Given the description of an element on the screen output the (x, y) to click on. 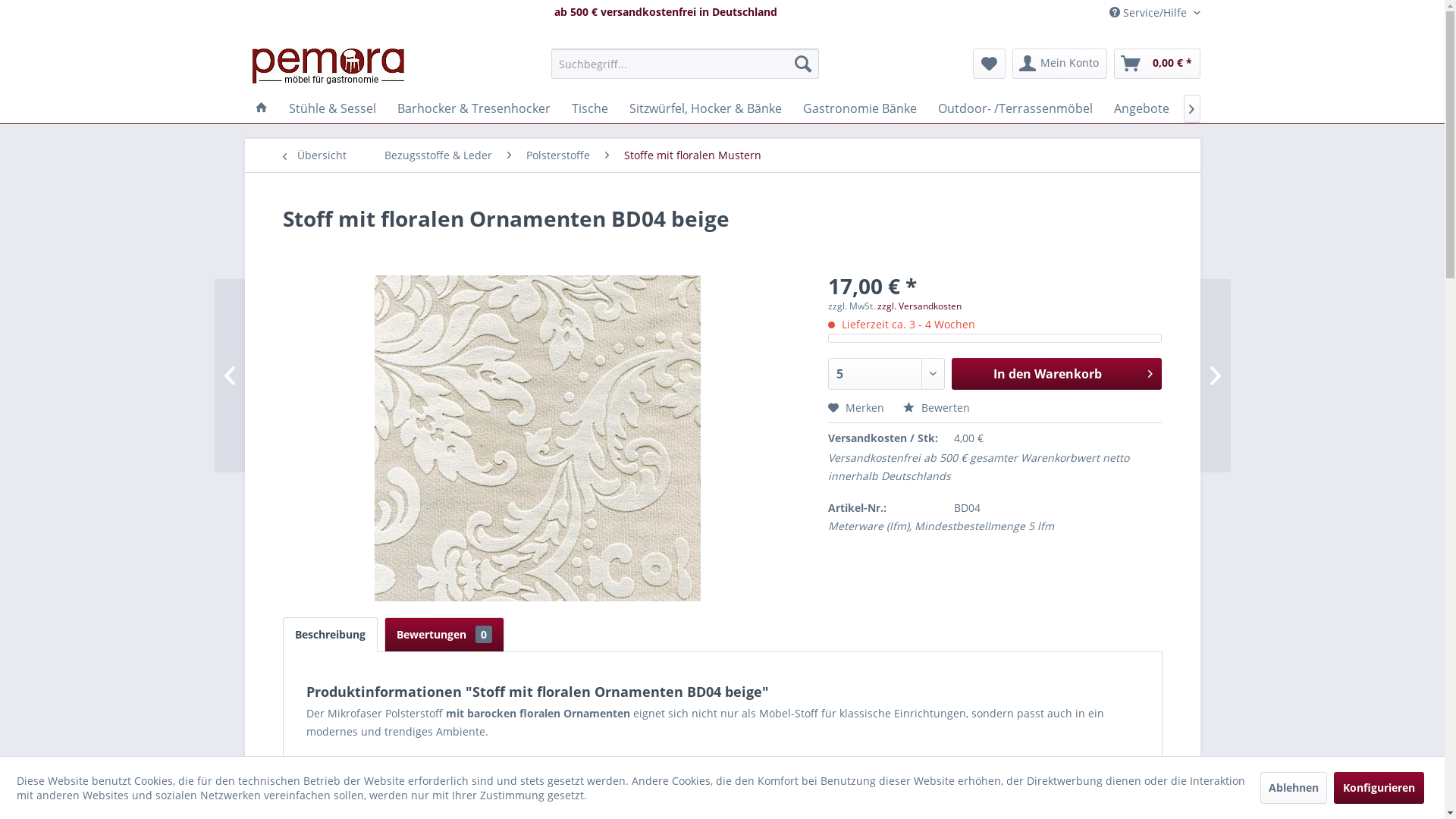
Beschreibung Element type: text (329, 634)
Ablehnen Element type: text (1293, 787)
Bewerten Element type: text (936, 407)
Merkzettel Element type: hover (988, 63)
Bewertungen 0 Element type: text (443, 634)
Tische Element type: text (589, 108)
Polsterstoffe Element type: text (557, 155)
Stoff mit floralen Ornamenten BD44 hellbraun Element type: hover (304, 375)
Angebote Element type: text (1140, 108)
Barhocker & Tresenhocker Element type: text (473, 108)
Stoff mit floralen Ornamenten BD47 blaugrau Element type: hover (1139, 375)
Bezugsstoffe & Leder Element type: text (437, 155)
Mein Konto Element type: text (1058, 63)
zzgl. Versandkosten Element type: text (919, 305)
Stoffe mit floralen Mustern Element type: text (691, 155)
Sofort lieferbar! Element type: text (1235, 108)
Einrichtungsbeispiele Element type: text (1362, 108)
Konfigurieren Element type: text (1378, 787)
Merken Element type: text (856, 407)
In den Warenkorb Element type: text (1056, 373)
